Given the description of an element on the screen output the (x, y) to click on. 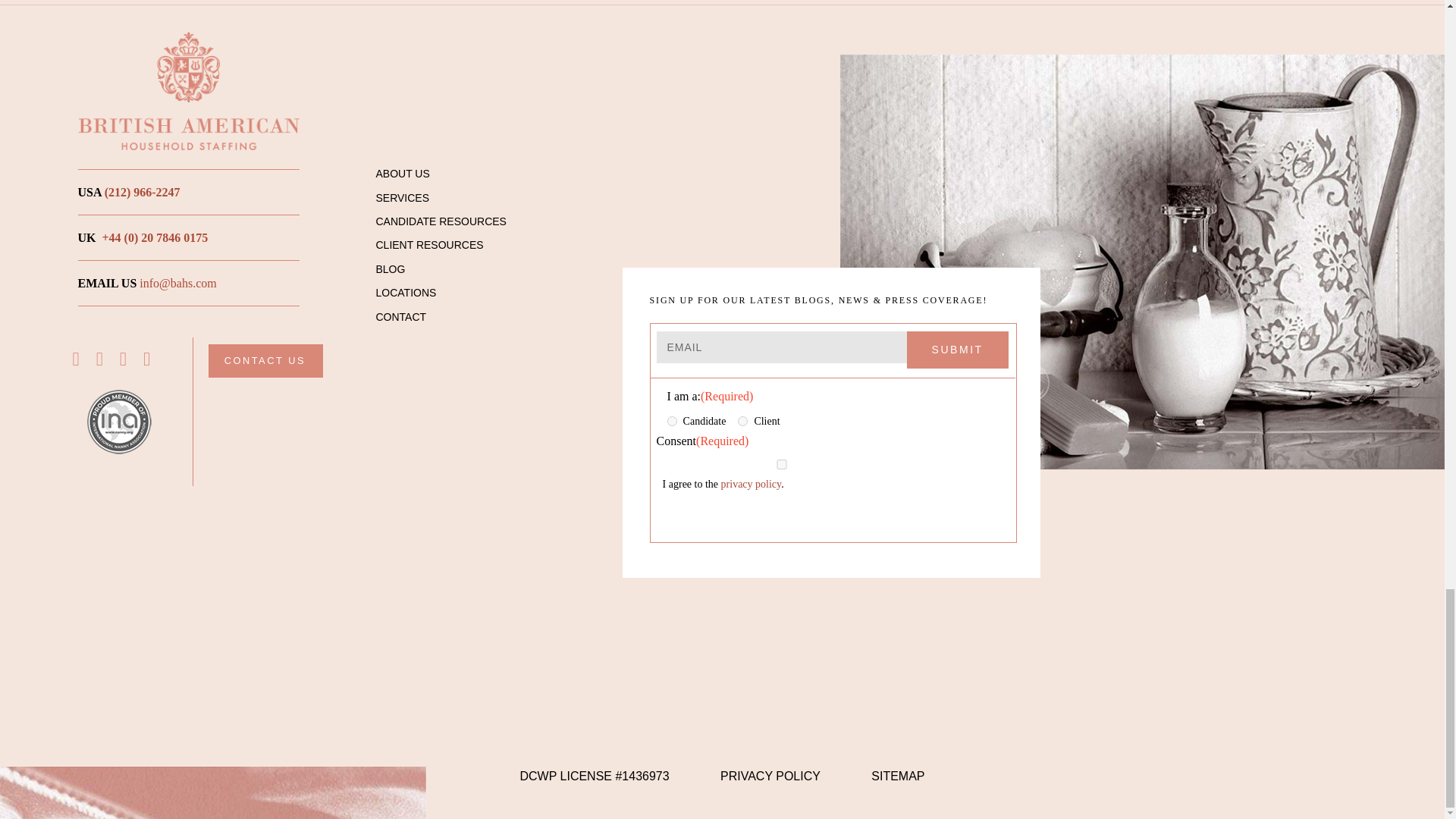
Client (743, 420)
Candidate (671, 420)
1 (781, 464)
